Given the description of an element on the screen output the (x, y) to click on. 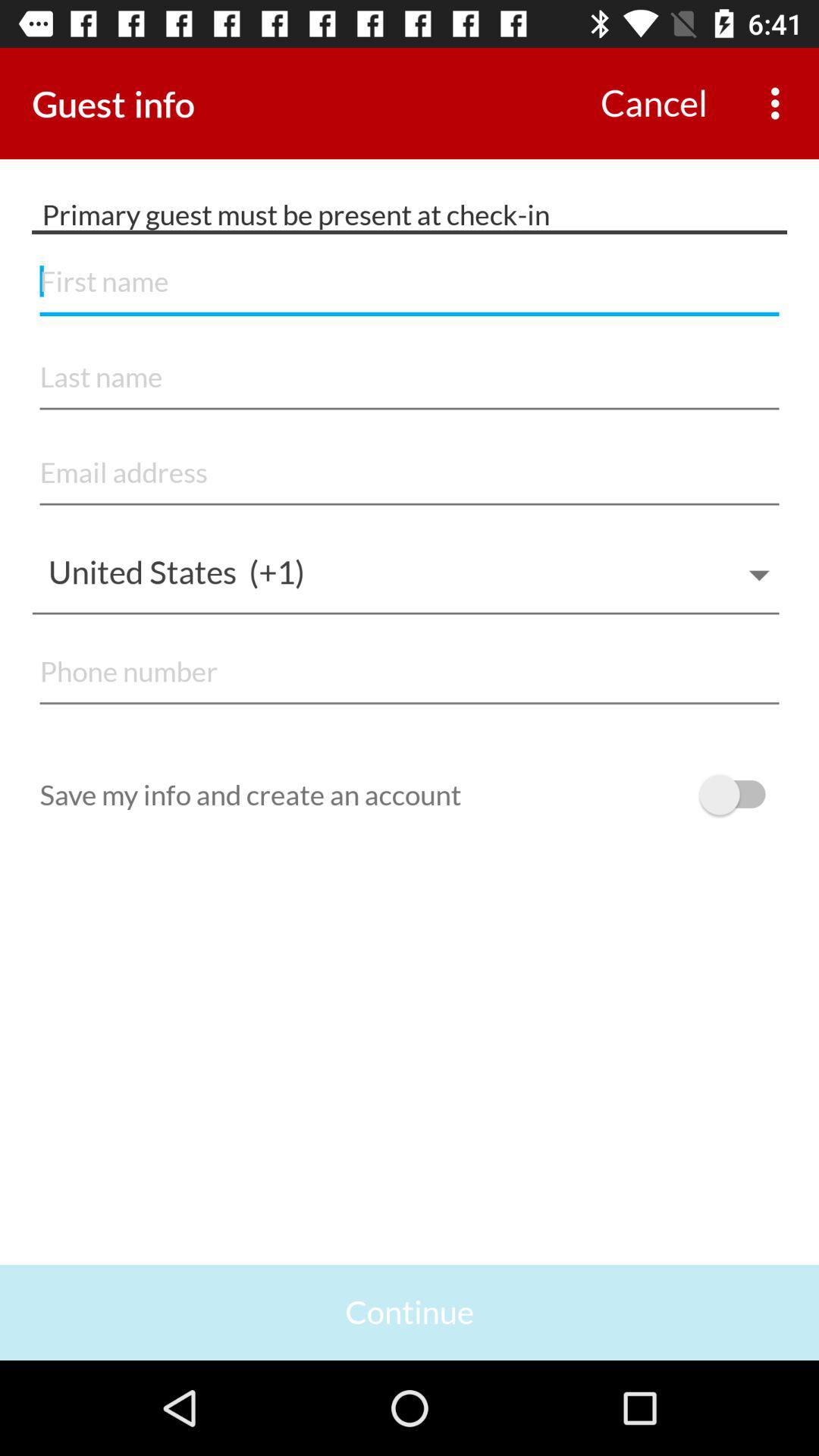
account filling form (409, 377)
